Given the description of an element on the screen output the (x, y) to click on. 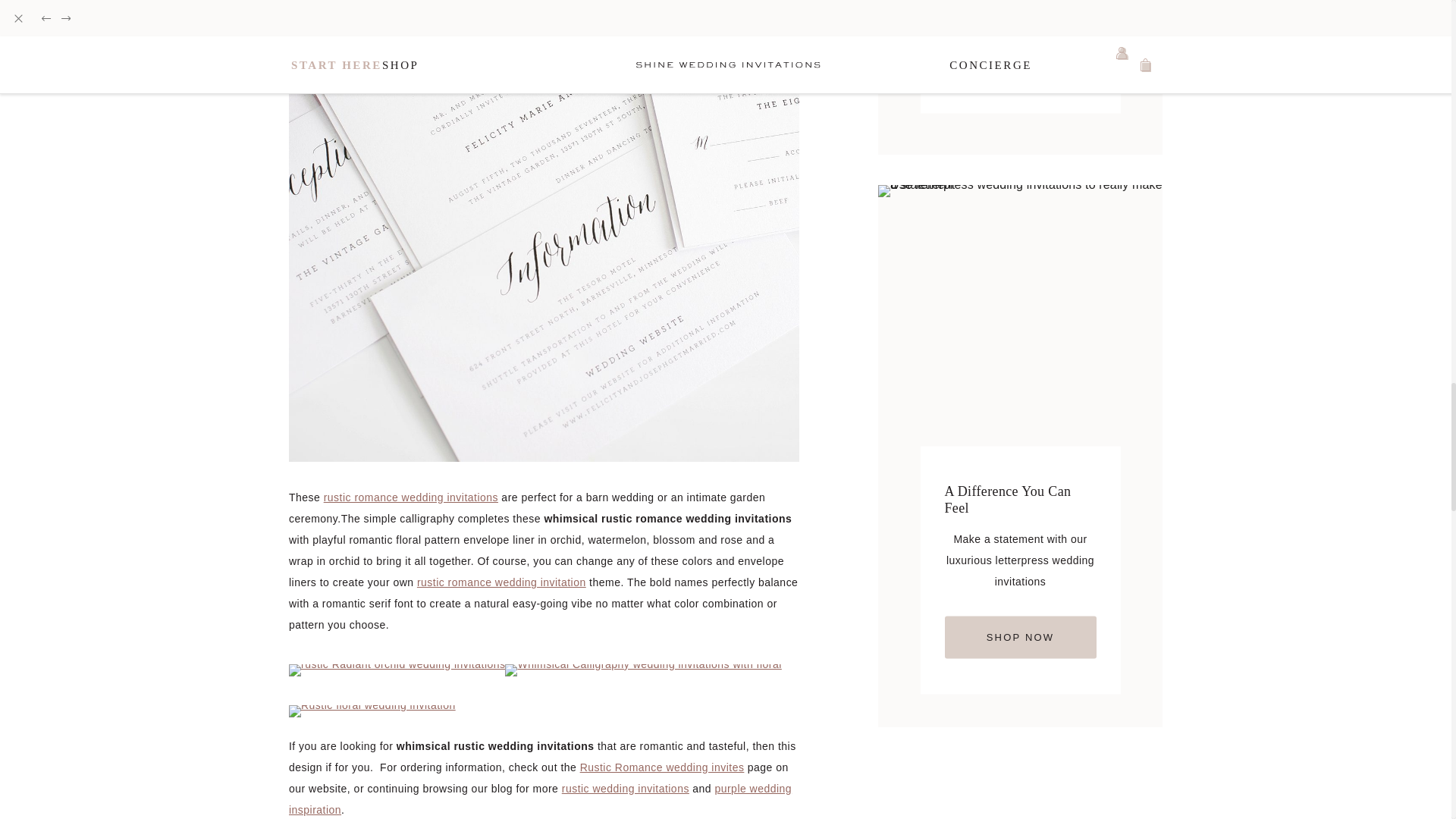
Rustic Romance Wedding Invites  (661, 767)
Rustic Romance Wedding Invitation (501, 582)
rustic romance wedding invitation (501, 582)
Rustic Romance Wedding Invitations (410, 497)
purple wedding inspiration (540, 798)
Rustic Romance wedding invites (661, 767)
Purple Wedding Inspiration (540, 798)
rustic wedding invitations (625, 788)
Rustic Wedding Inspiration (625, 788)
rustic romance wedding invitations (410, 497)
